Given the description of an element on the screen output the (x, y) to click on. 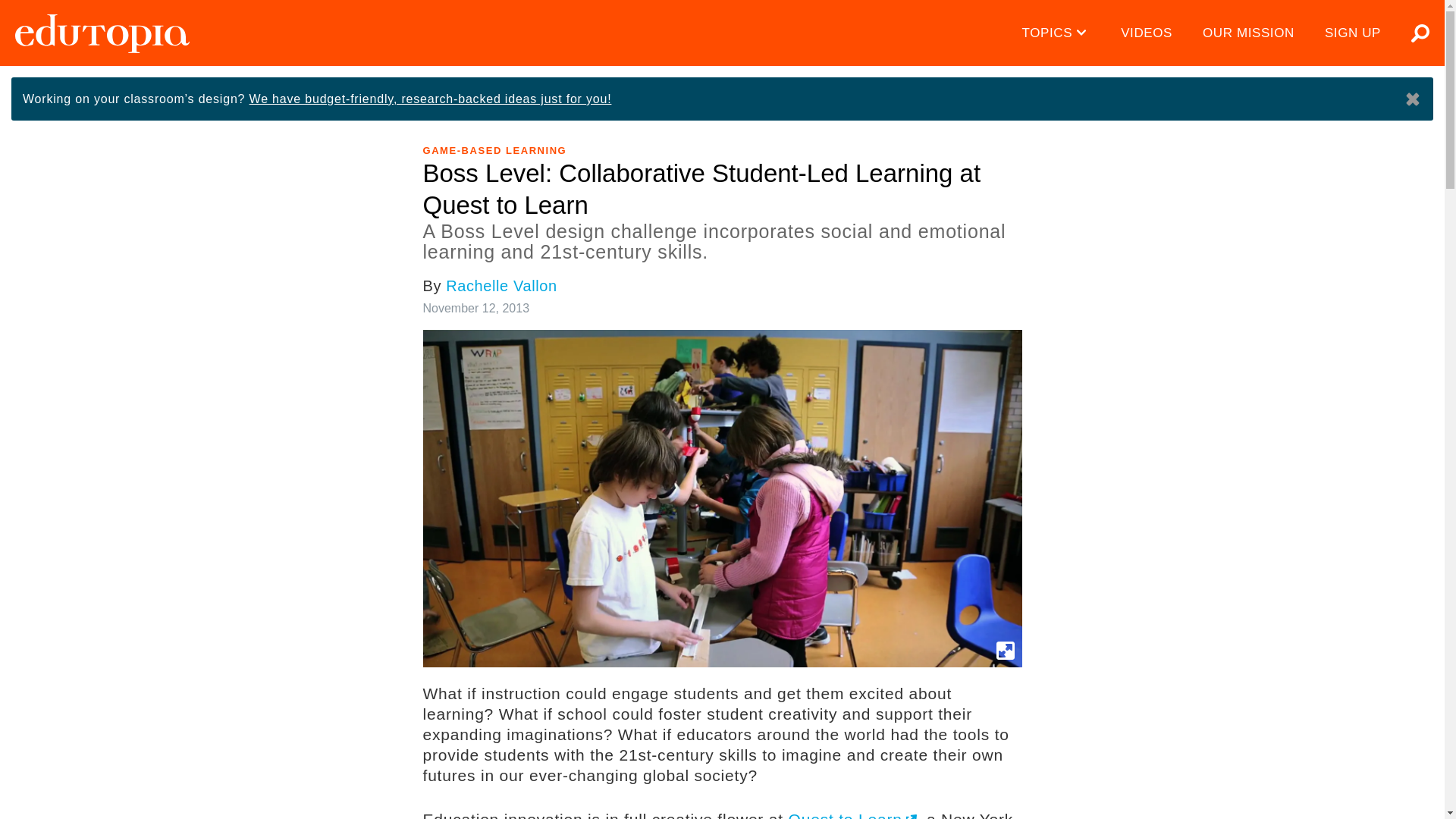
Edutopia (101, 33)
OUR MISSION (1248, 33)
TOPICS (1056, 33)
Rachelle Vallon (501, 285)
SIGN UP (1352, 33)
Edutopia (101, 33)
We have budget-friendly, research-backed ideas just for you! (429, 98)
Quest to Learn (853, 814)
VIDEOS (1146, 33)
